Given the description of an element on the screen output the (x, y) to click on. 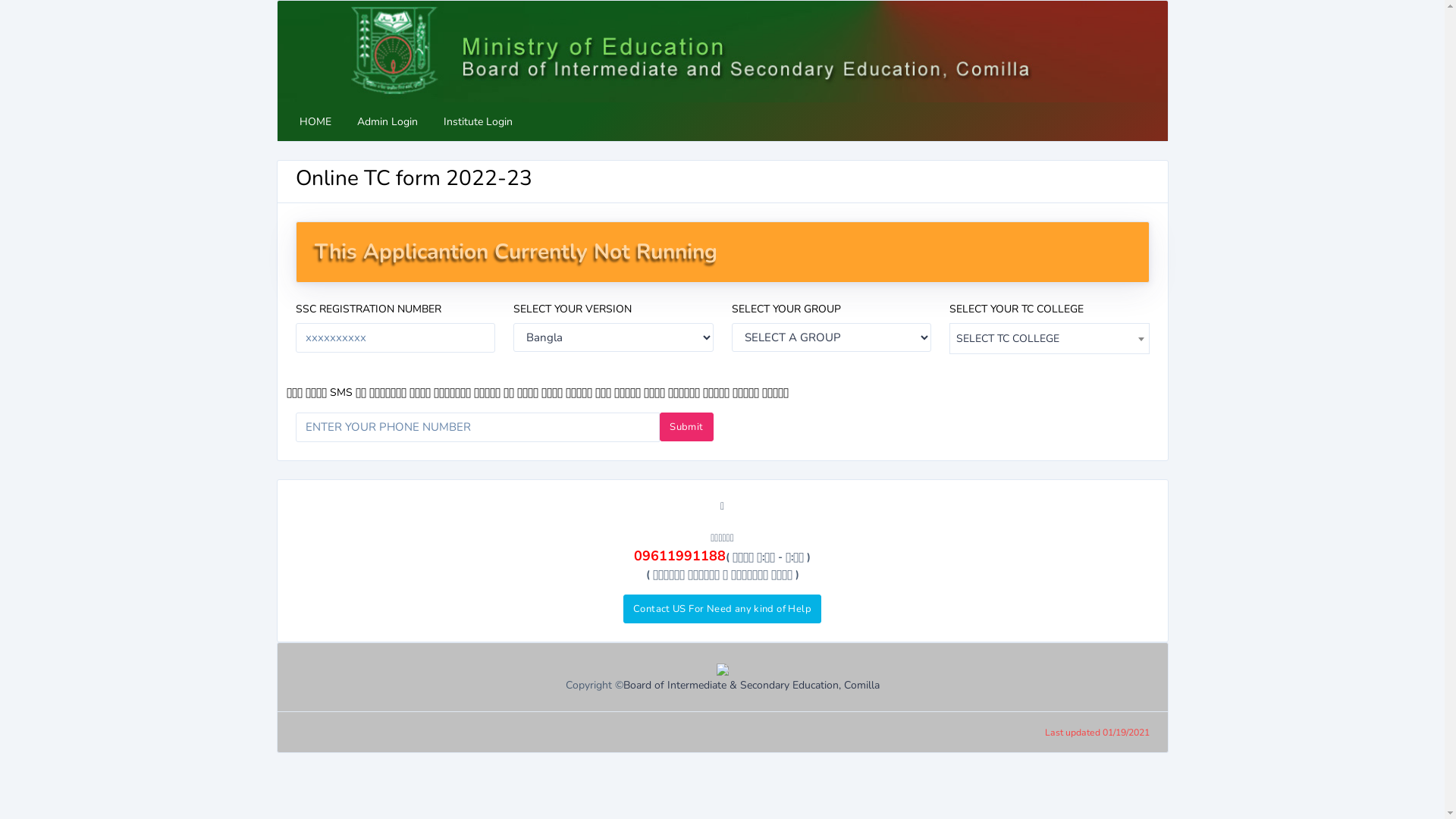
HOME Element type: text (315, 121)
Board of Intermediate & Secondary Education, Comilla Element type: text (751, 684)
Institute Login Element type: text (478, 121)
Admin Login Element type: text (387, 121)
Submit Element type: text (685, 426)
Contact US For Need any kind of Help Element type: text (722, 608)
